Given the description of an element on the screen output the (x, y) to click on. 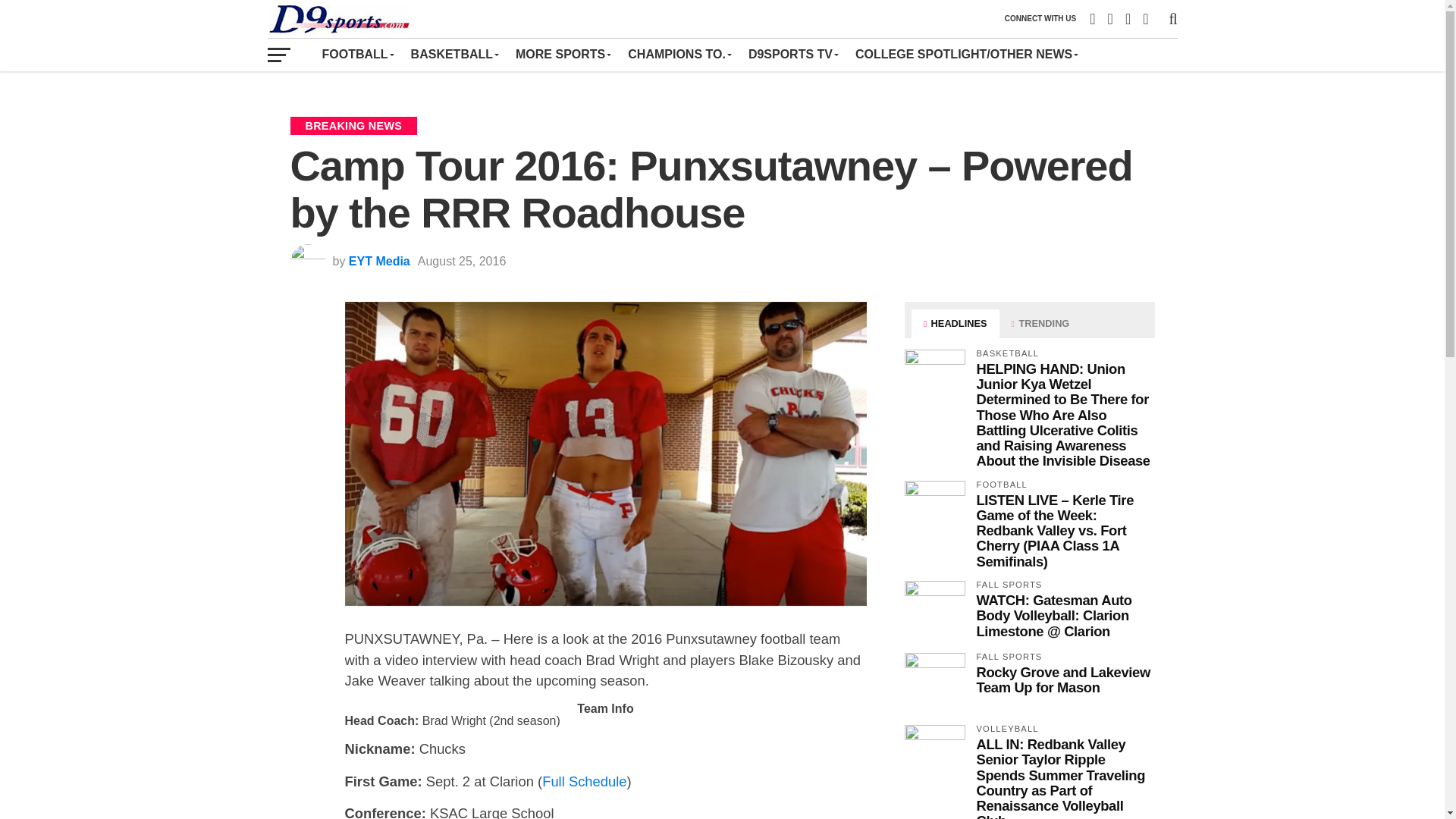
Posts by EYT Media (379, 260)
